Given the description of an element on the screen output the (x, y) to click on. 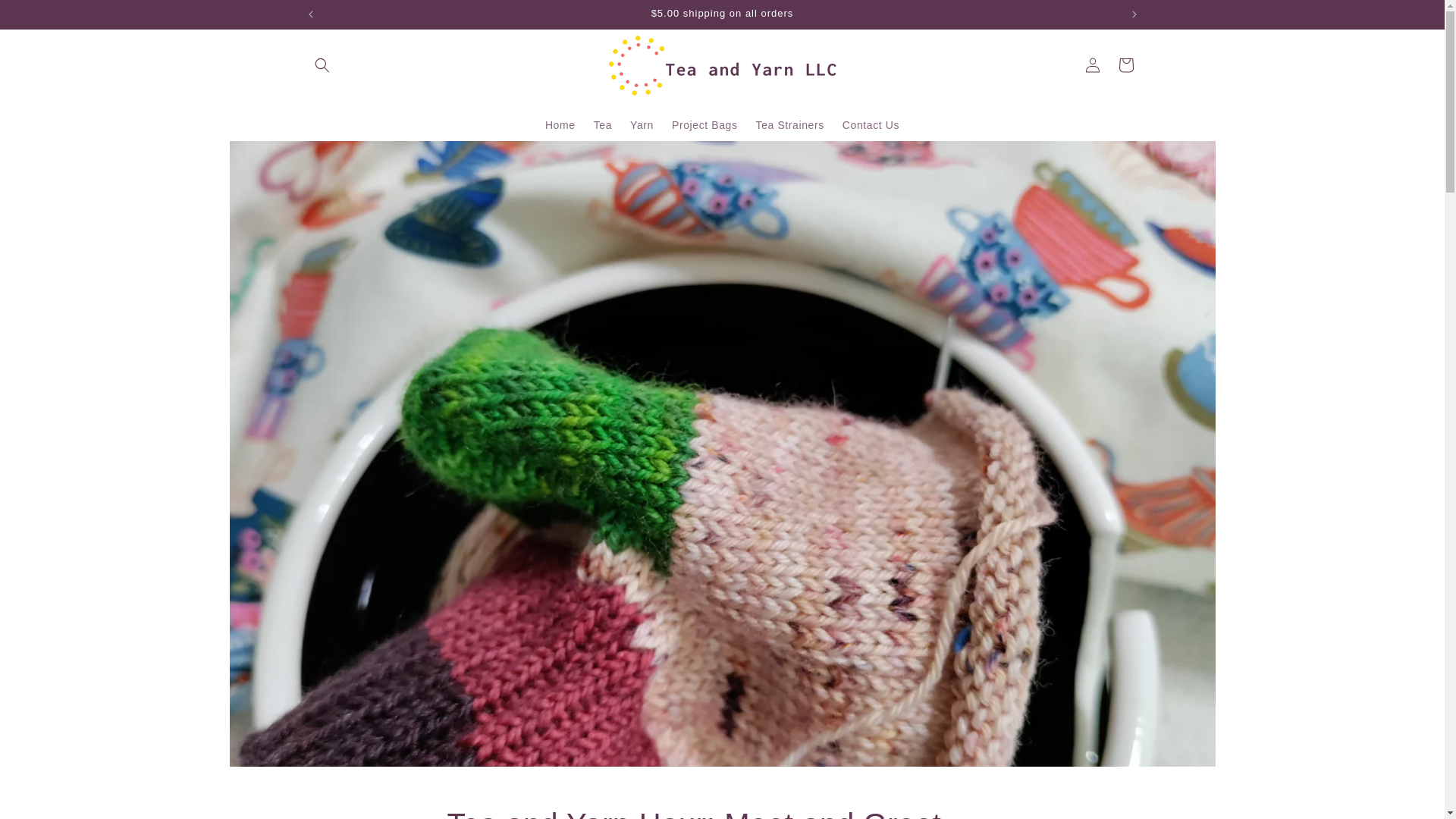
Home (560, 124)
Cart (1124, 64)
Tea (603, 124)
Project Bags (704, 124)
Log in (1091, 64)
Tea Strainers (789, 124)
Contact Us (870, 124)
Yarn (721, 811)
Skip to content (641, 124)
